Given the description of an element on the screen output the (x, y) to click on. 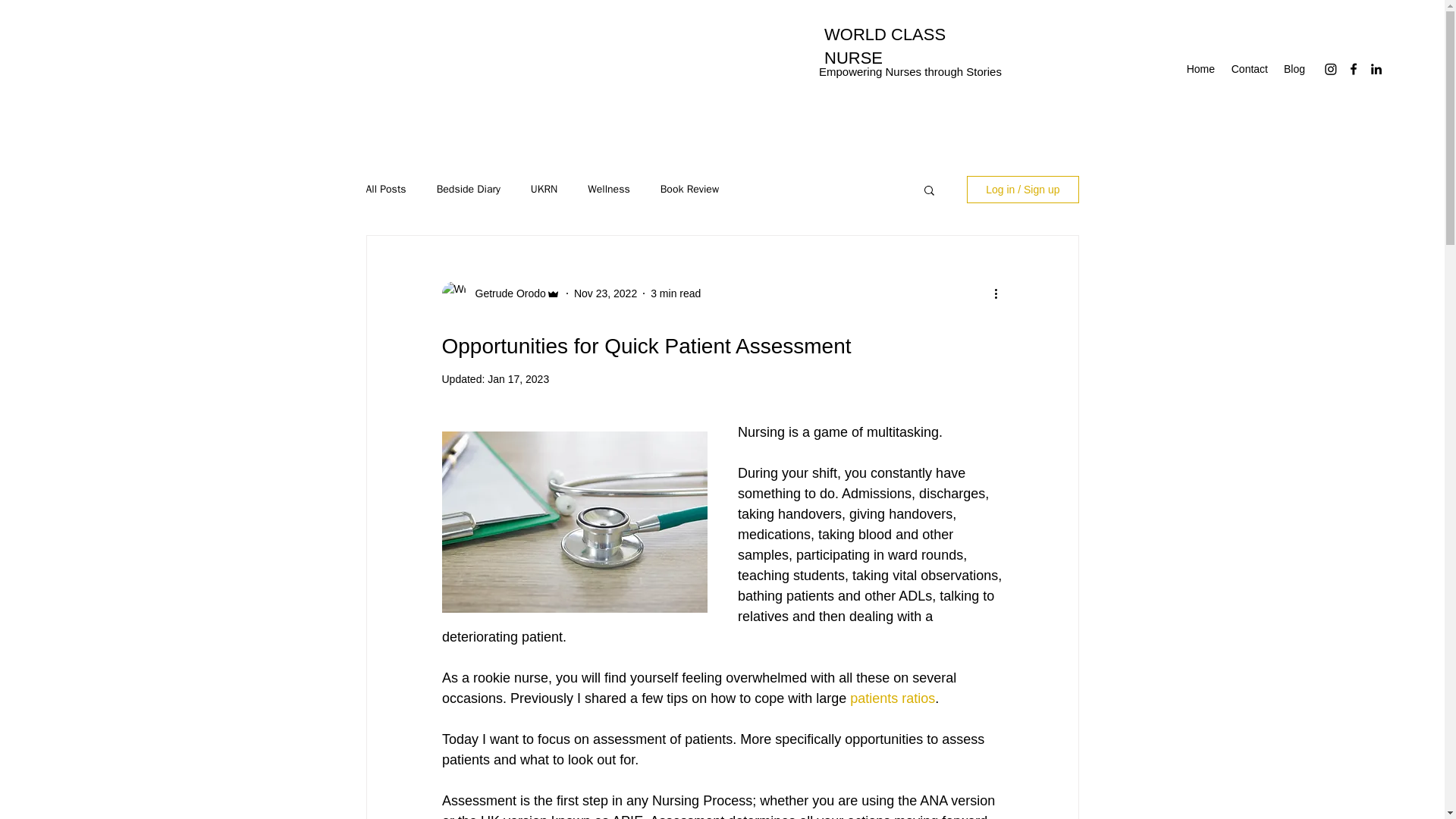
All Posts (385, 189)
Home (1200, 68)
Jan 17, 2023 (517, 378)
WORLD CLASS NURSE (884, 46)
Book Review (690, 189)
Contact (1249, 68)
Bedside Diary (468, 189)
UKRN (544, 189)
Getrude Orodo (504, 293)
Blog (1294, 68)
